Given the description of an element on the screen output the (x, y) to click on. 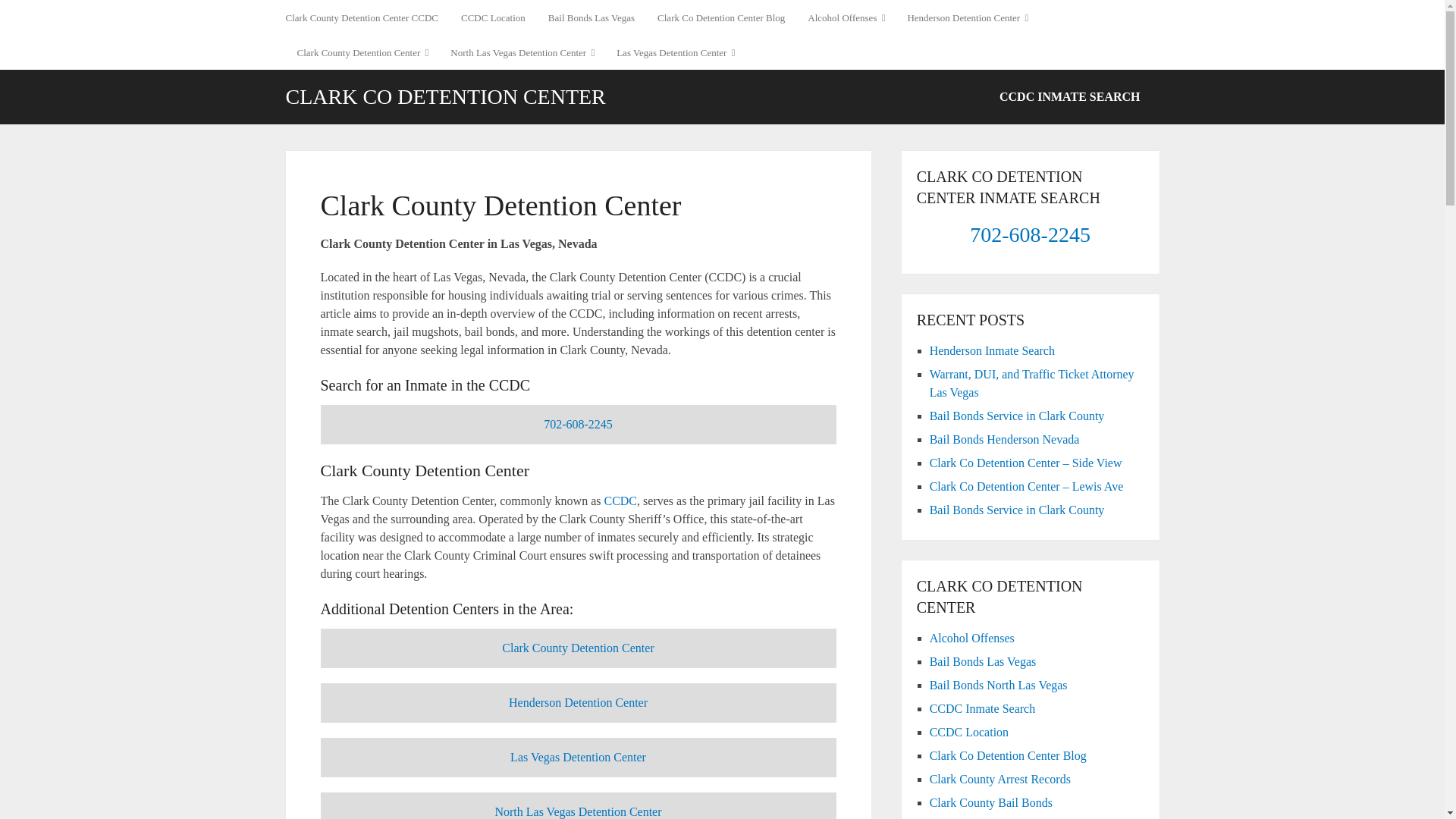
Clark County Detention Center CCDC (366, 17)
CCDC Location (493, 17)
Henderson Detention Center (967, 17)
Alcohol Offenses (845, 17)
Clark Co Detention Center Blog (721, 17)
CLARK CO DETENTION CENTER (445, 96)
Las Vegas Detention Center (675, 52)
Bail Bonds Las Vegas (591, 17)
CCDC Location (493, 17)
Alcohol Offenses (845, 17)
Clark County Detention Center CCDC (366, 17)
Clark County Detention Center (362, 52)
Henderson Detention Center (967, 17)
702-608-2245 (577, 423)
North Las Vegas Detention Center (522, 52)
